Given the description of an element on the screen output the (x, y) to click on. 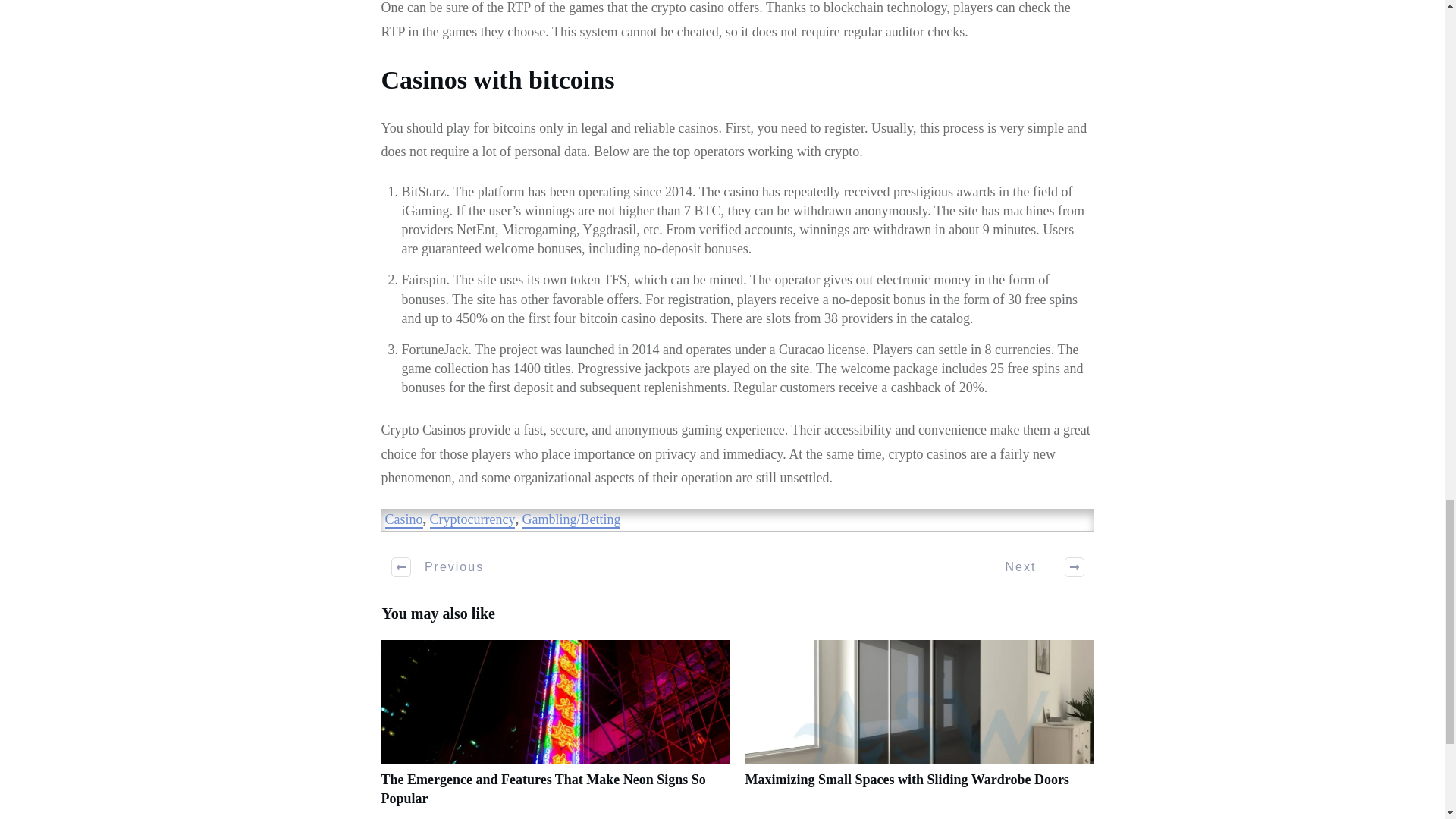
Previous (438, 566)
Cryptocurrency (472, 519)
The Emergence and Features That Make Neon Signs So Popular (542, 788)
The Emergence and Features That Make Neon Signs So Popular (542, 788)
Maximizing Small Spaces with Sliding Wardrobe Doors (918, 729)
Next (1036, 566)
Cryptocurrency (472, 519)
The Emergence and Features That Make Neon Signs So Popular (554, 729)
Casino (404, 519)
Casino (404, 519)
